Given the description of an element on the screen output the (x, y) to click on. 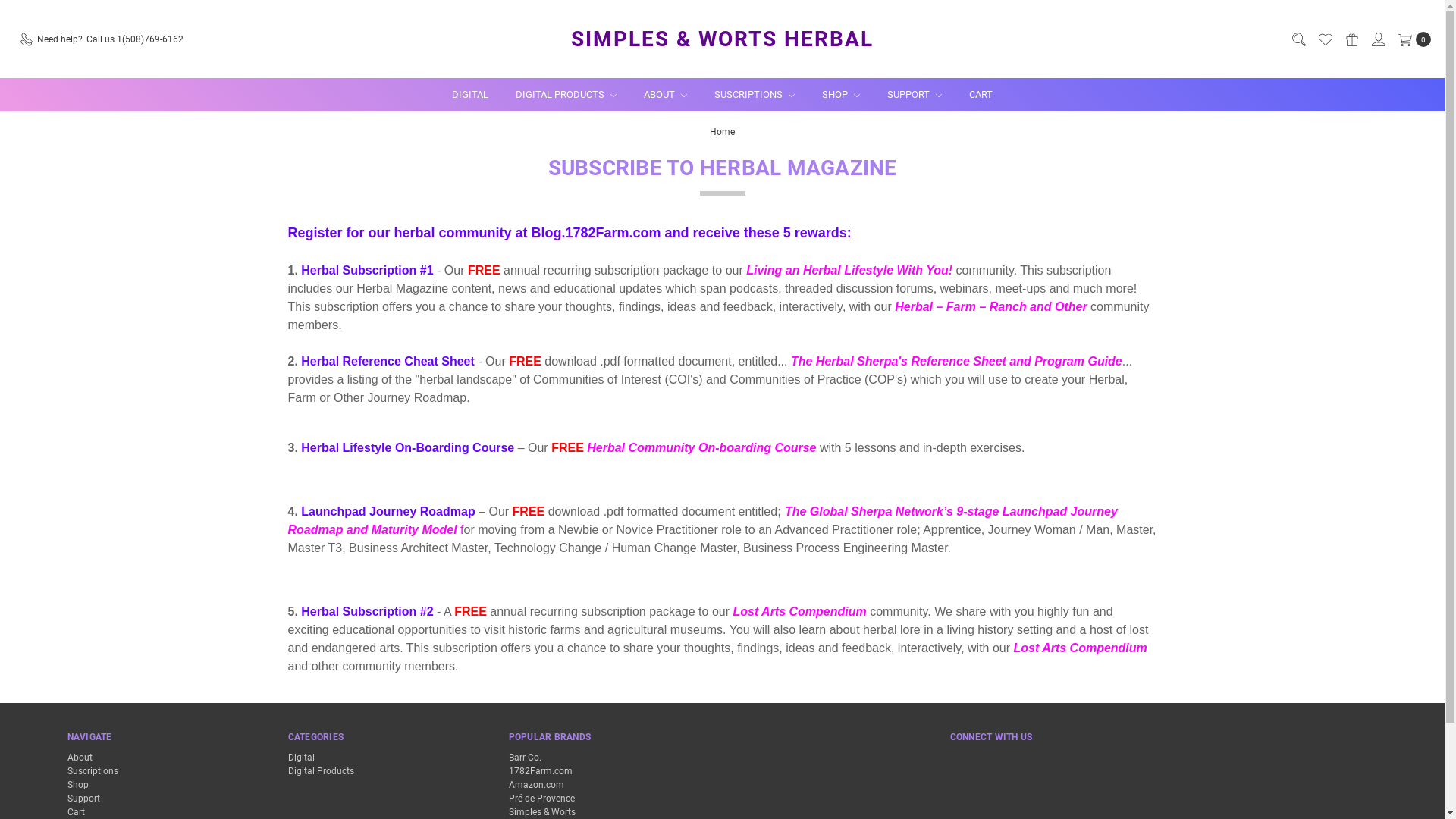
Simples & Worts Element type: text (541, 811)
CART Element type: text (980, 94)
Need help?Call us 1(508)769-6162 Element type: text (100, 38)
SUSCRIPTIONS Element type: text (754, 94)
ABOUT Element type: text (665, 94)
Shop Element type: text (76, 784)
Cart Element type: text (75, 811)
DIGITAL Element type: text (470, 94)
DIGITAL PRODUCTS Element type: text (566, 94)
1782Farm.com Element type: text (539, 770)
Suscriptions Element type: text (91, 770)
Barr-Co. Element type: text (524, 757)
About Element type: text (78, 757)
Digital Products Element type: text (321, 770)
SHOP Element type: text (840, 94)
Home Element type: text (721, 130)
Amazon.com Element type: text (535, 784)
SIMPLES & WORTS HERBAL Element type: text (722, 38)
SUPPORT Element type: text (914, 94)
Digital Element type: text (301, 757)
0 Element type: text (1411, 39)
Support Element type: text (82, 798)
